Given the description of an element on the screen output the (x, y) to click on. 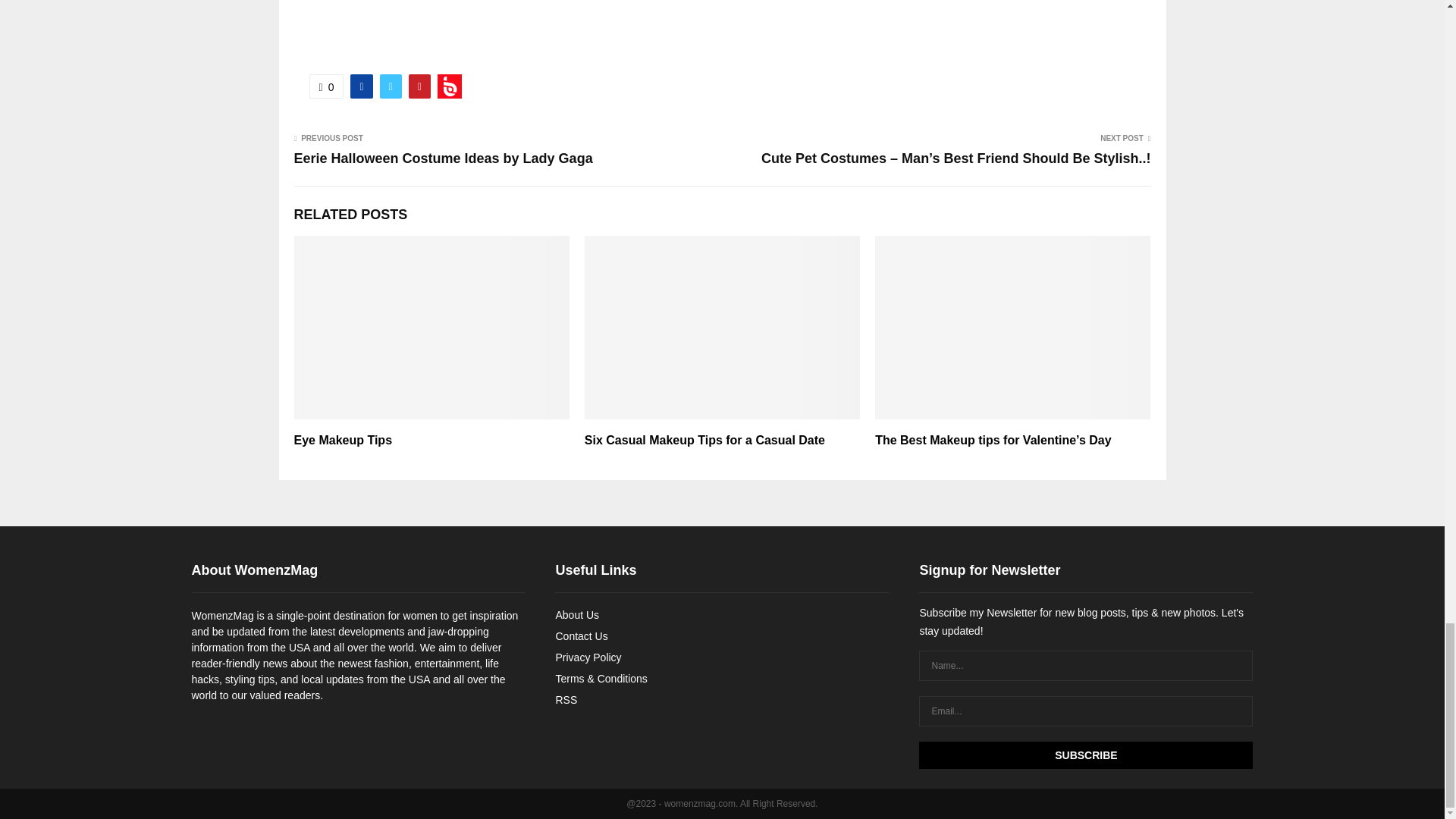
Like (325, 86)
Eerie Halloween Costume Ideas by Lady Gaga (443, 158)
Eye Makeup Tips (343, 440)
0 (325, 86)
Subscribe (1085, 755)
